Given the description of an element on the screen output the (x, y) to click on. 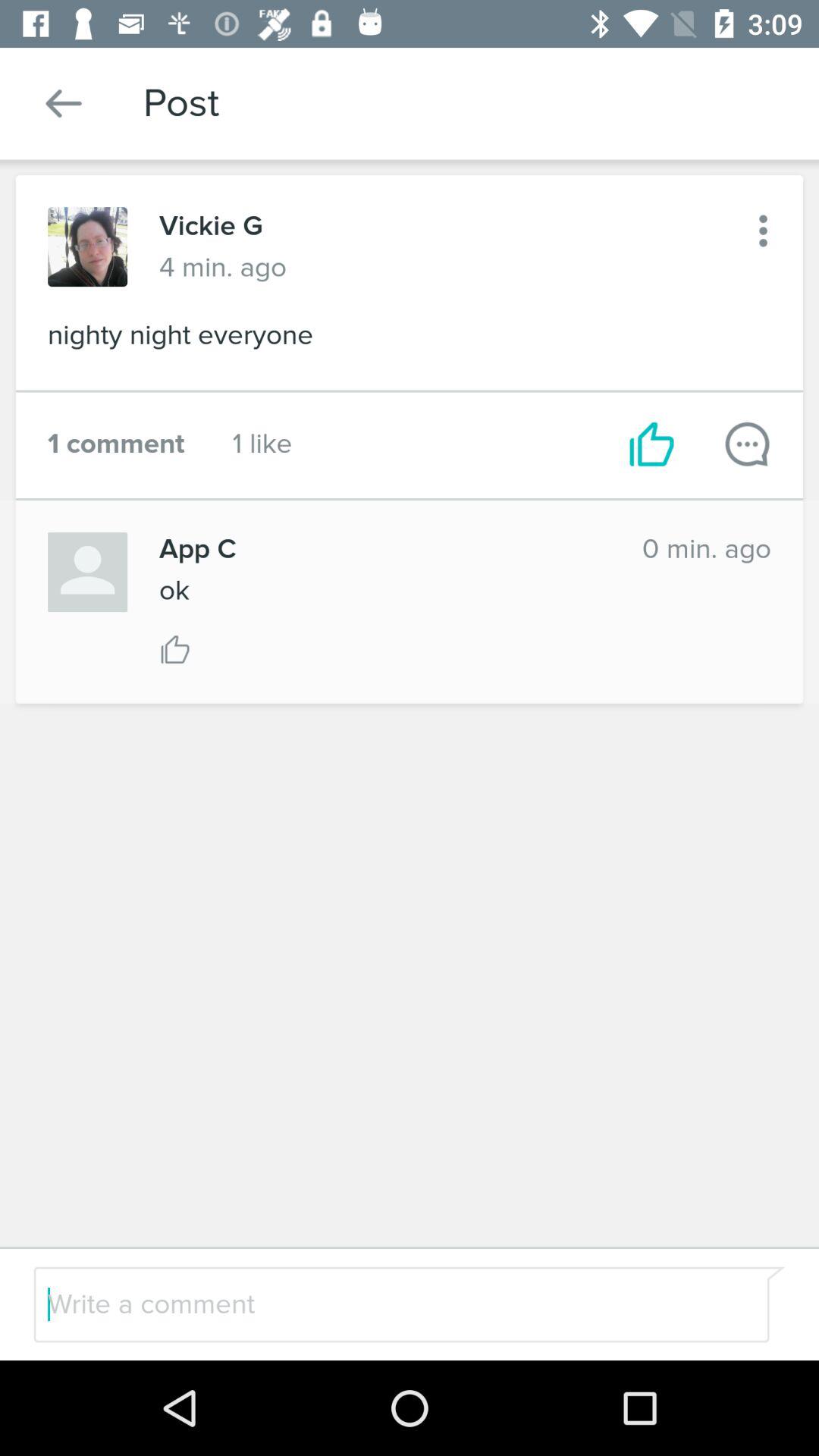
show user profile (87, 571)
